Given the description of an element on the screen output the (x, y) to click on. 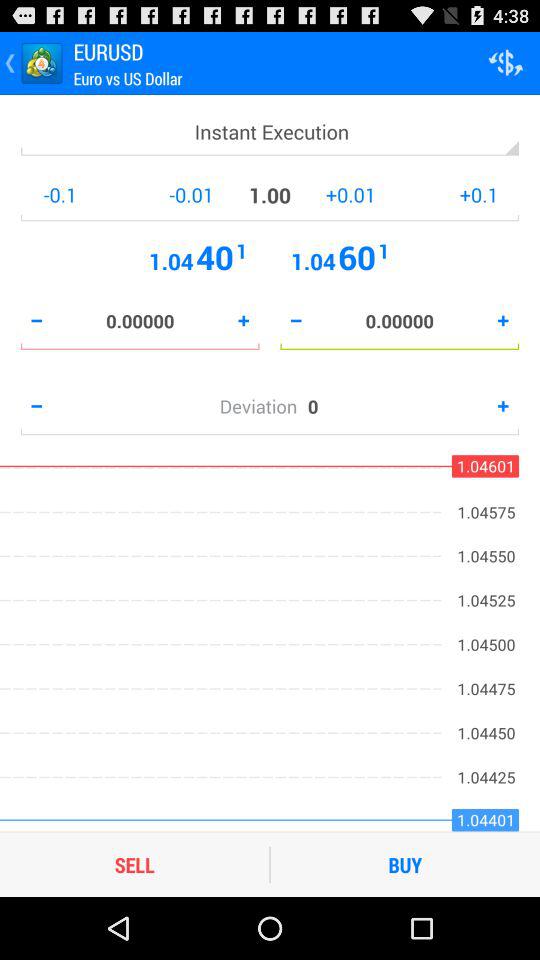
tap icon next to the 0 icon (263, 405)
